Given the description of an element on the screen output the (x, y) to click on. 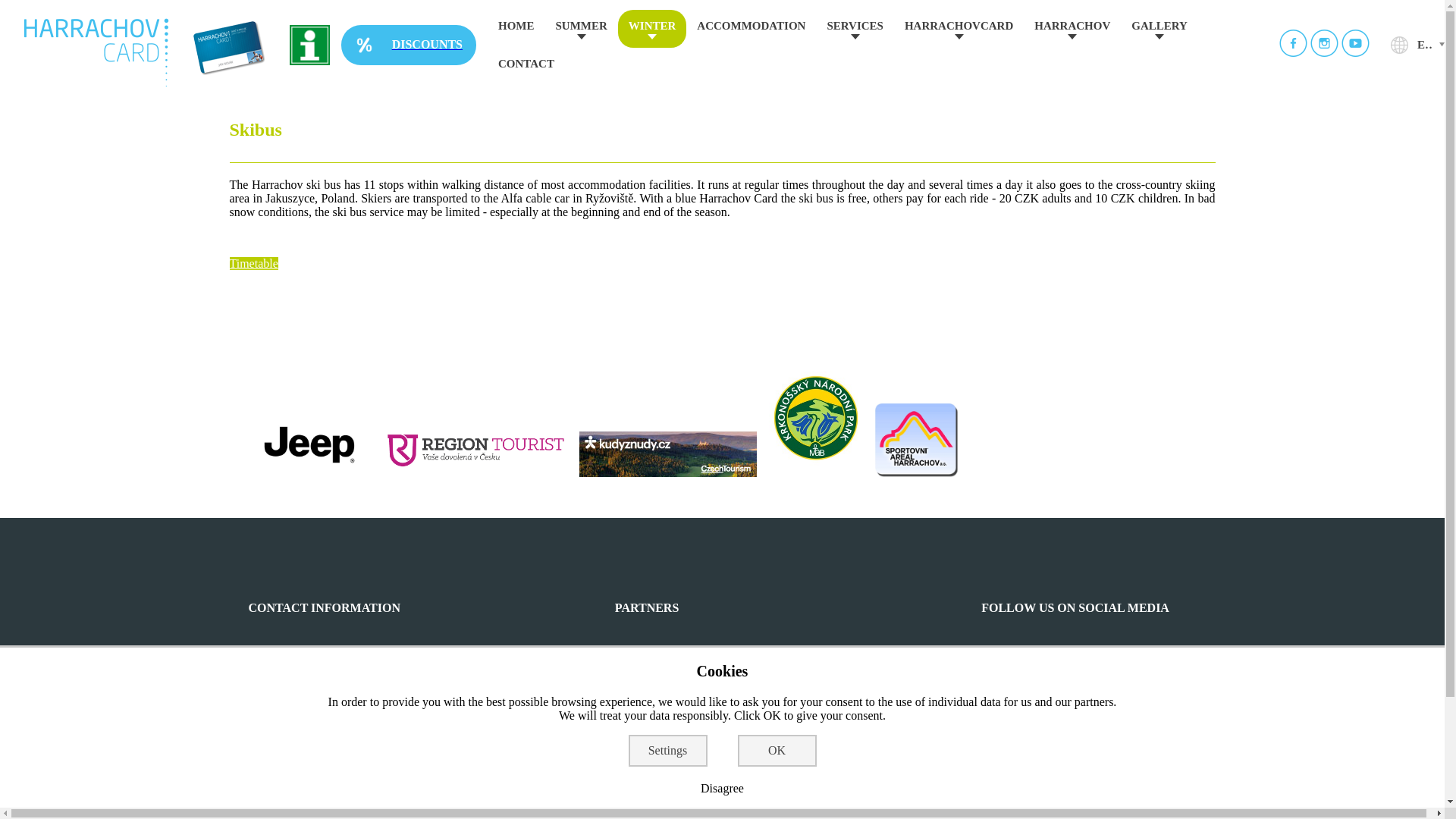
Infocentrum (309, 44)
